Given the description of an element on the screen output the (x, y) to click on. 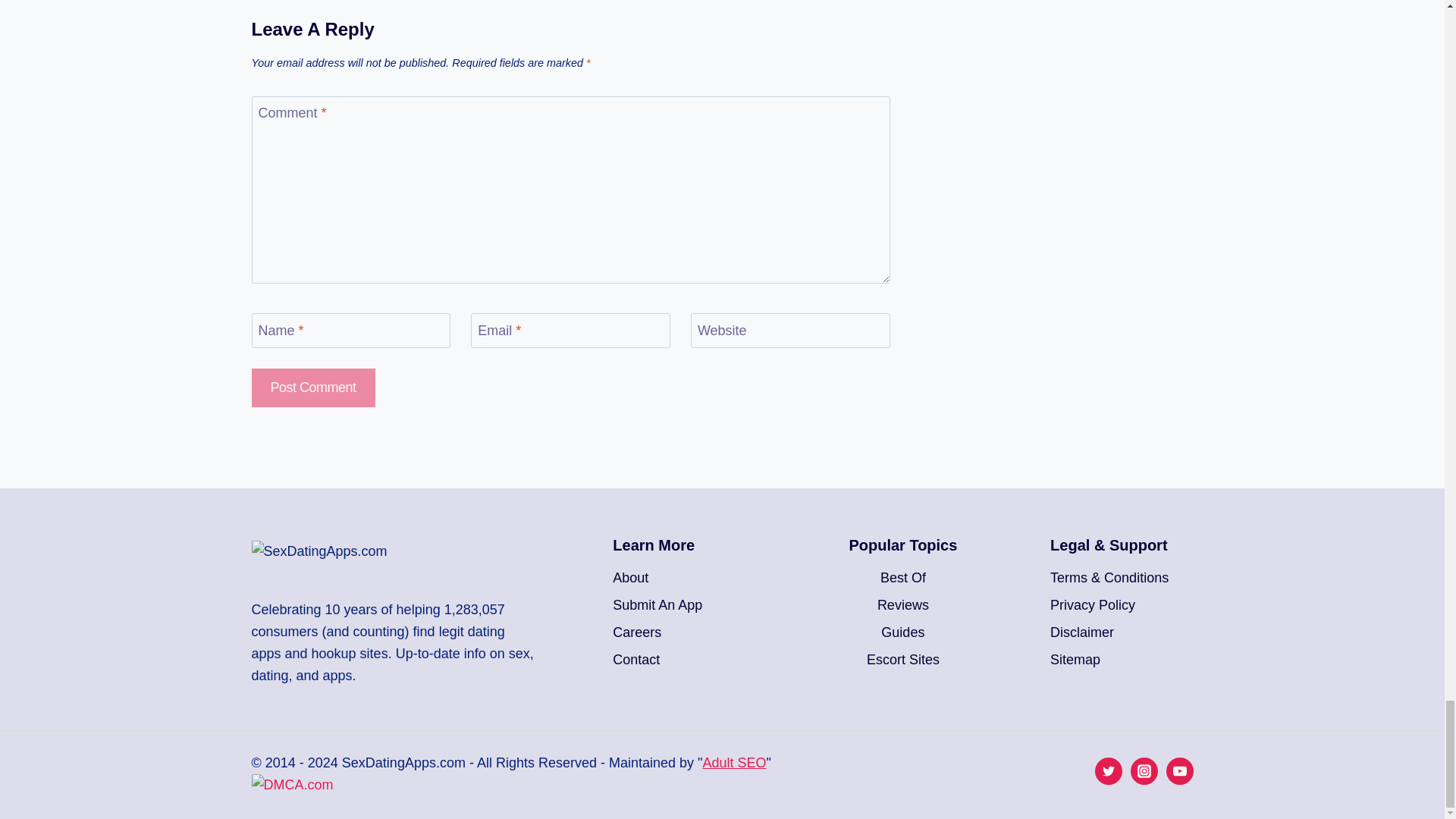
DMCA.com Protection Status (557, 791)
Post Comment (313, 387)
